Given the description of an element on the screen output the (x, y) to click on. 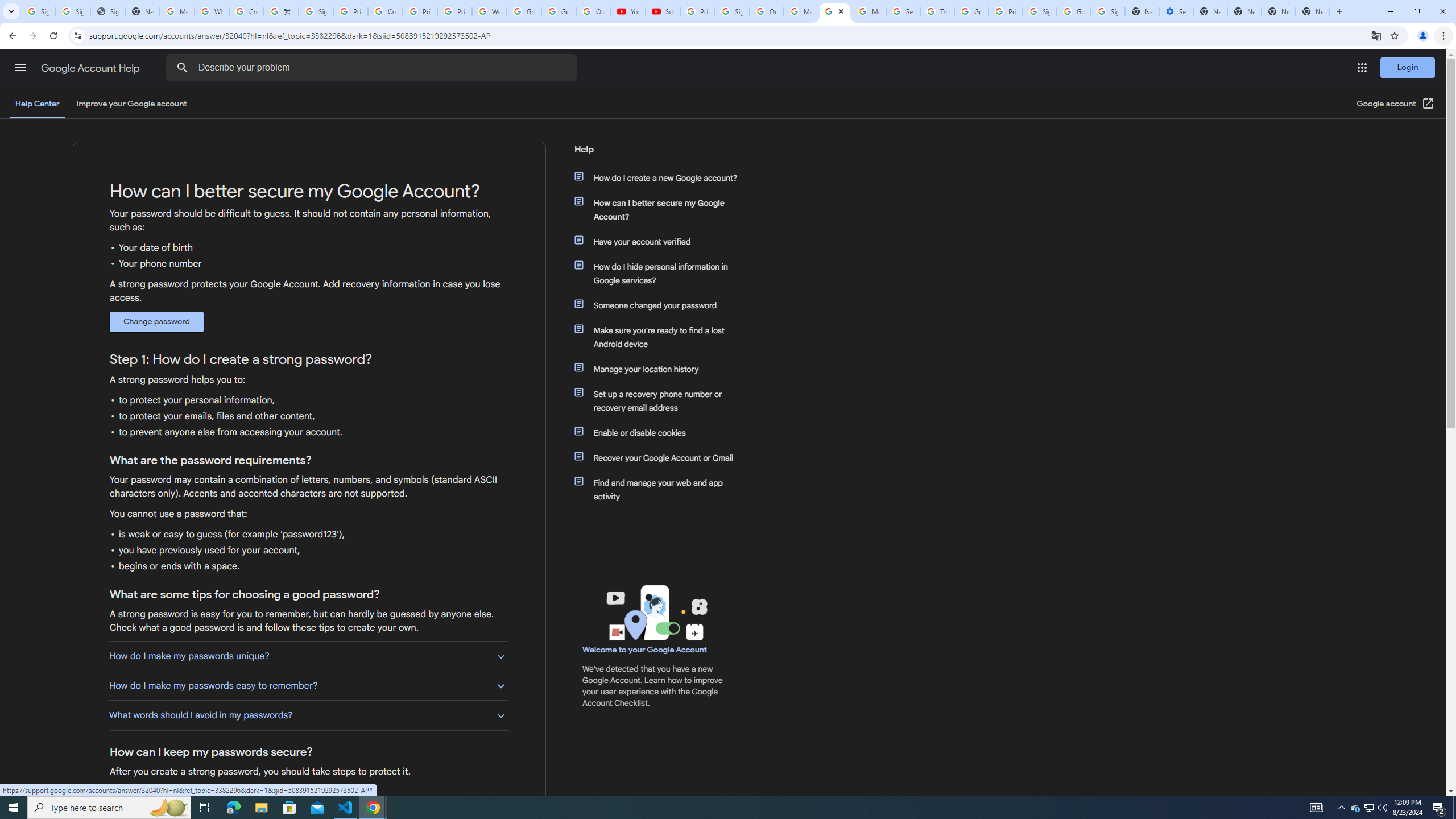
Learning Center home page image (655, 612)
How do I make my passwords easy to remember? (308, 685)
Create your Google Account (246, 11)
How can I better secure my Google Account? (661, 209)
What is the best way to store written down passwords? (308, 799)
Create your Google Account (384, 11)
Subscriptions - YouTube (662, 11)
New Tab (1312, 11)
Help Center (36, 103)
